Given the description of an element on the screen output the (x, y) to click on. 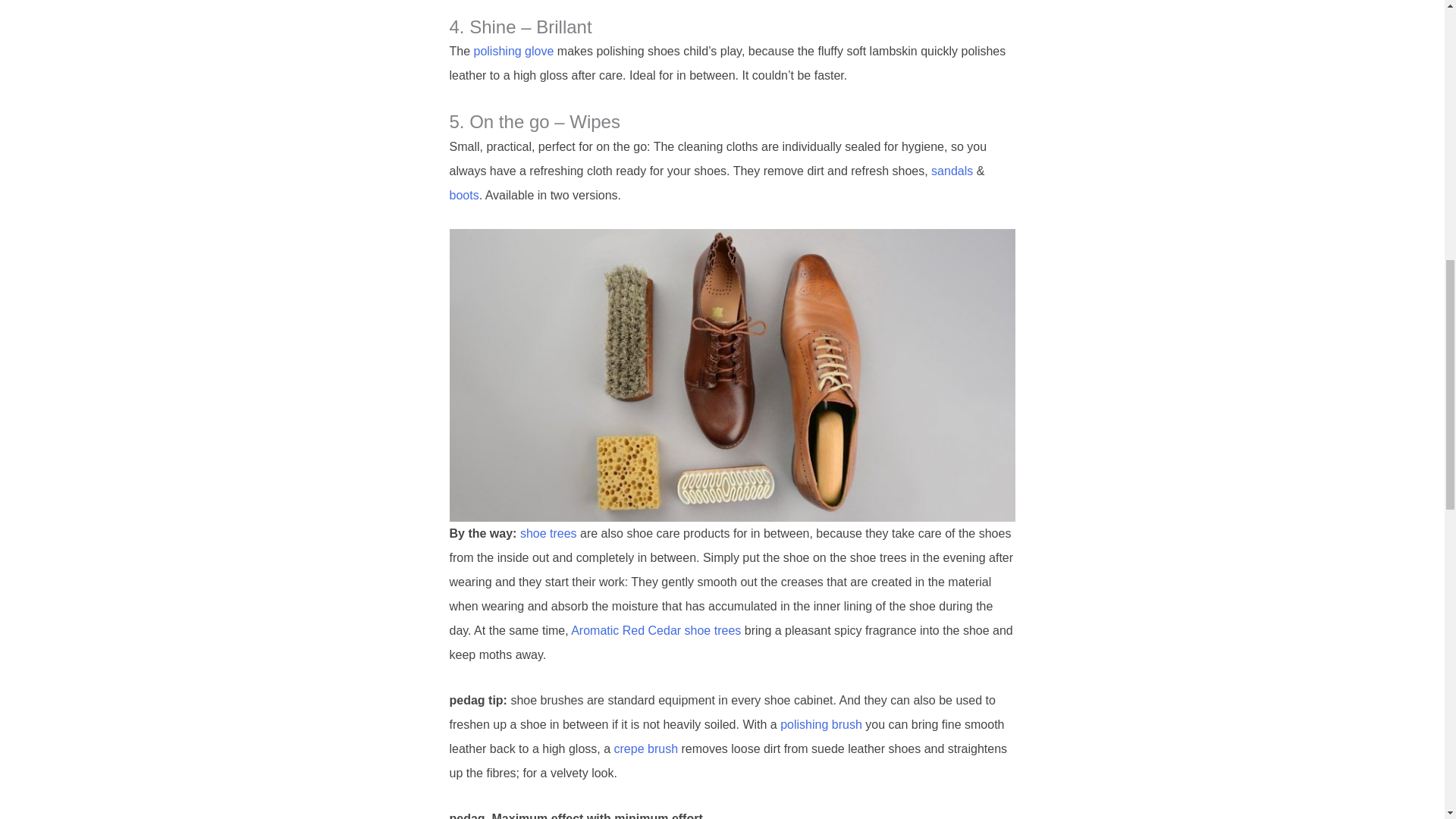
boots (463, 195)
Aromatic Red Cedar shoe trees (655, 630)
shoe trees (547, 533)
crepe brush (646, 748)
sandals (953, 170)
polishing brush (820, 724)
polishing glove (514, 51)
